Given the description of an element on the screen output the (x, y) to click on. 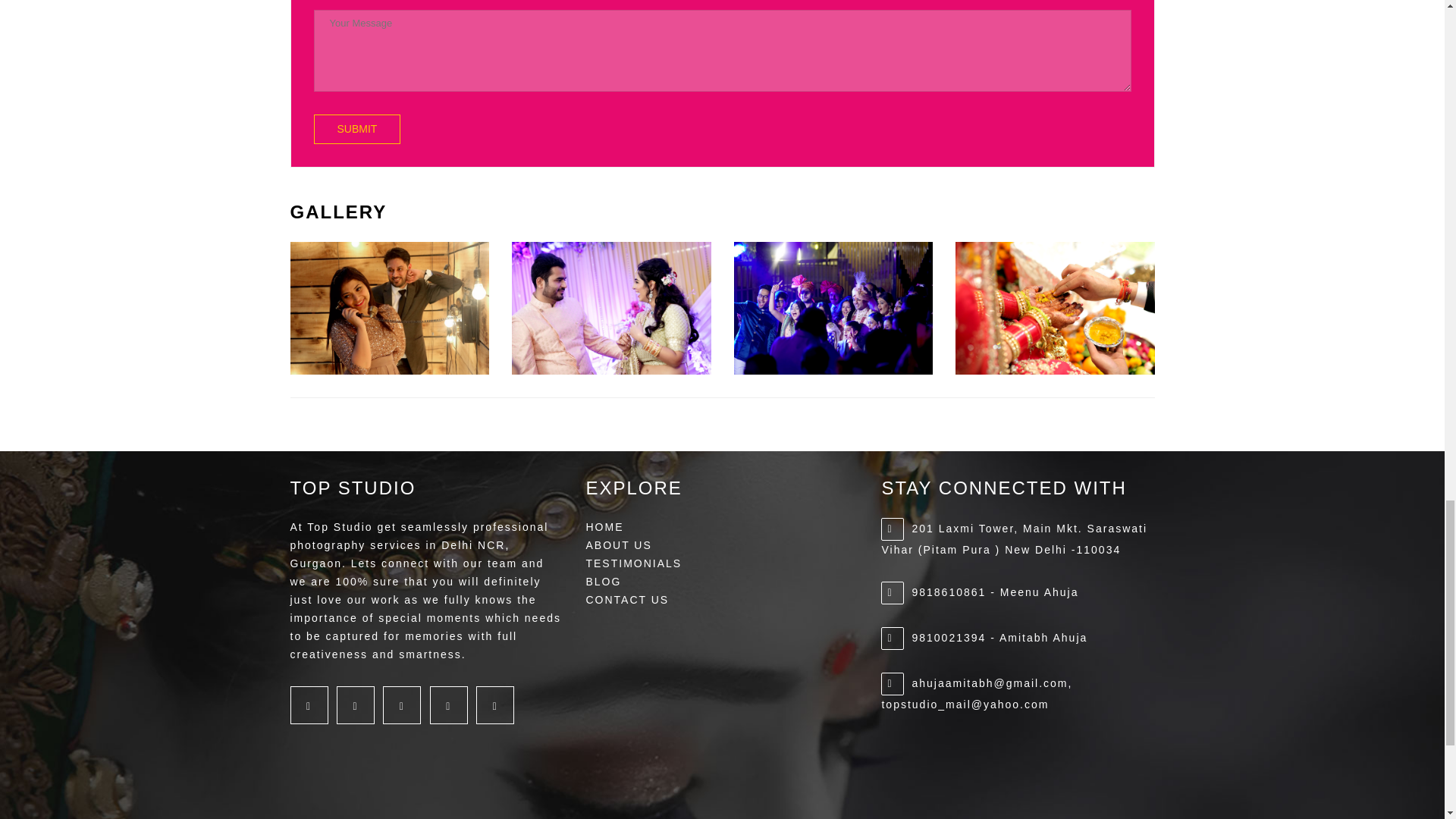
Best wedding photographer in gurgaon (611, 307)
pre-wedding-shoot-delhi (389, 307)
best pre-wedding photogarpher in gurgaon (1054, 307)
SUBMIT (357, 129)
Best destination wedding photographer in gurgaon (833, 307)
